Given the description of an element on the screen output the (x, y) to click on. 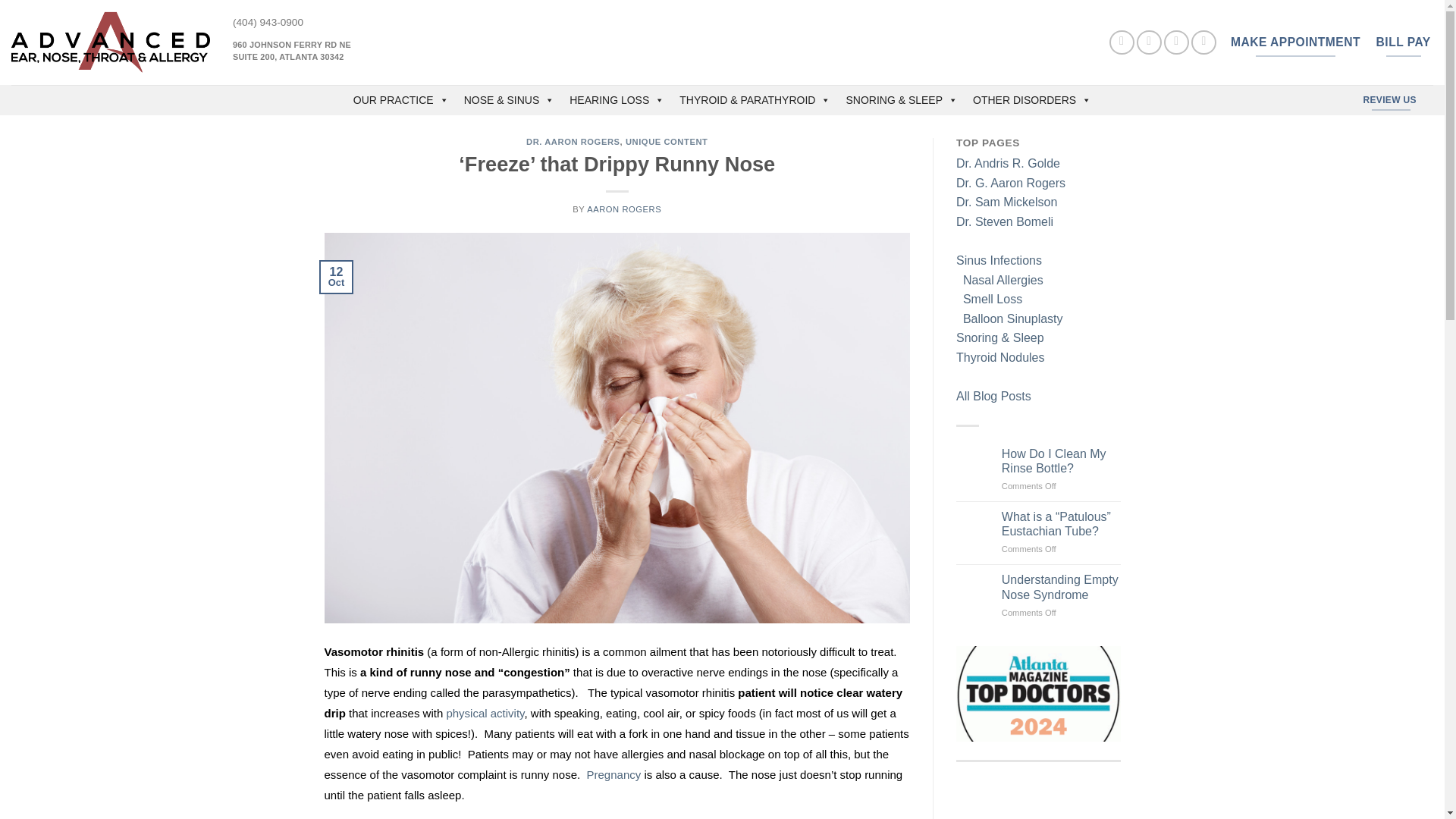
Follow on Instagram (291, 50)
Follow on YouTube (1149, 42)
BILL PAY (1203, 42)
How Do I Clean My Rinse Bottle? (1402, 42)
Call us (1061, 460)
Follow on Facebook (1176, 42)
MAKE APPOINTMENT (1121, 42)
Understanding Empty Nose Syndrome (1295, 42)
OUR PRACTICE (1061, 586)
